Given the description of an element on the screen output the (x, y) to click on. 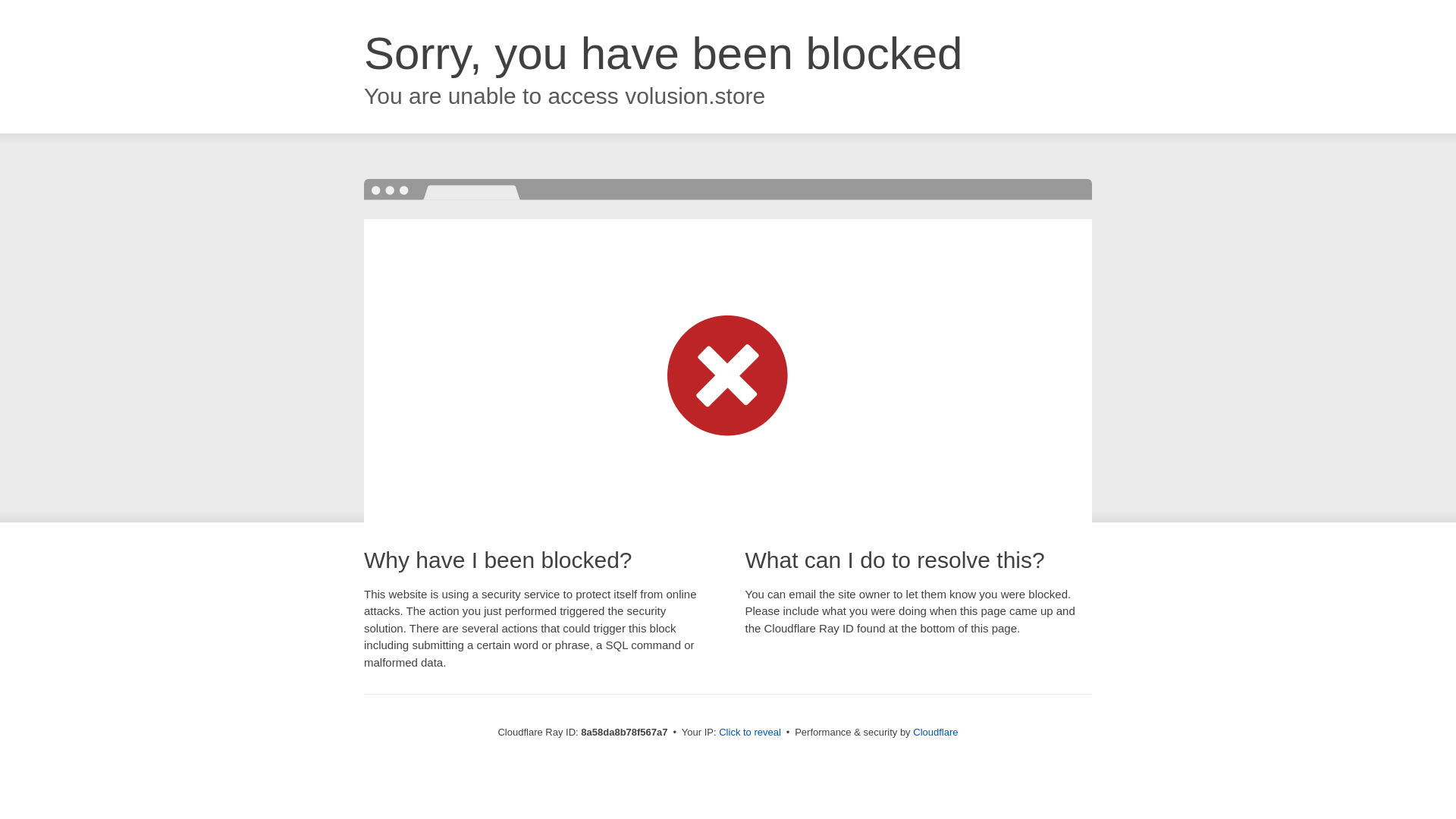
Click to reveal (749, 732)
Cloudflare (935, 731)
